Given the description of an element on the screen output the (x, y) to click on. 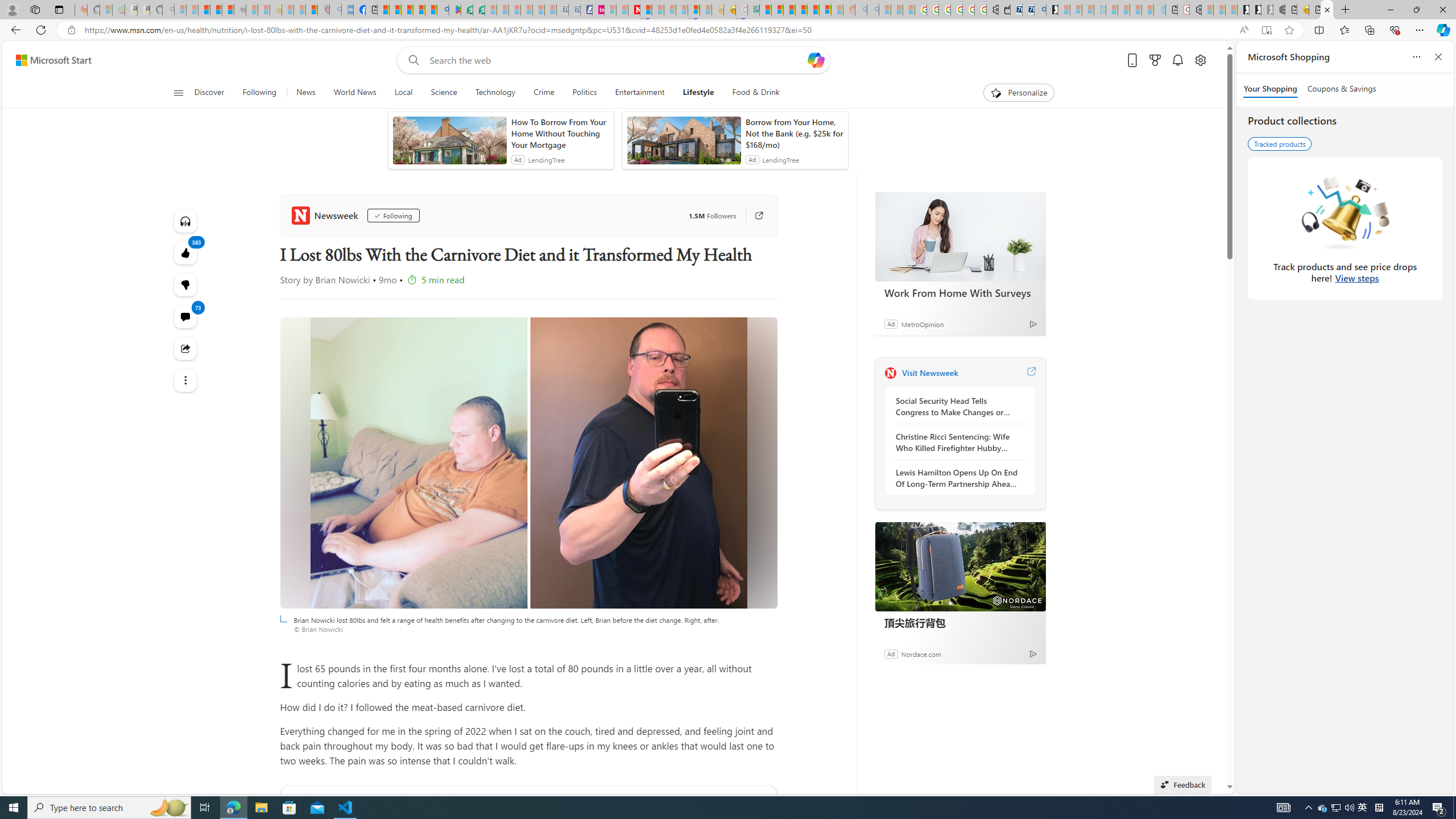
Following (392, 215)
Following (259, 92)
Split screen (1318, 29)
anim-content (683, 144)
NCL Adult Asthma Inhaler Choice Guideline - Sleeping (347, 9)
Robert H. Shmerling, MD - Harvard Health - Sleeping (323, 9)
Play Free Online Games | Games from Microsoft Start (1242, 9)
Nordace - Nordace Siena Is Not An Ordinary Backpack (1279, 9)
Open Copilot (815, 59)
